Given the description of an element on the screen output the (x, y) to click on. 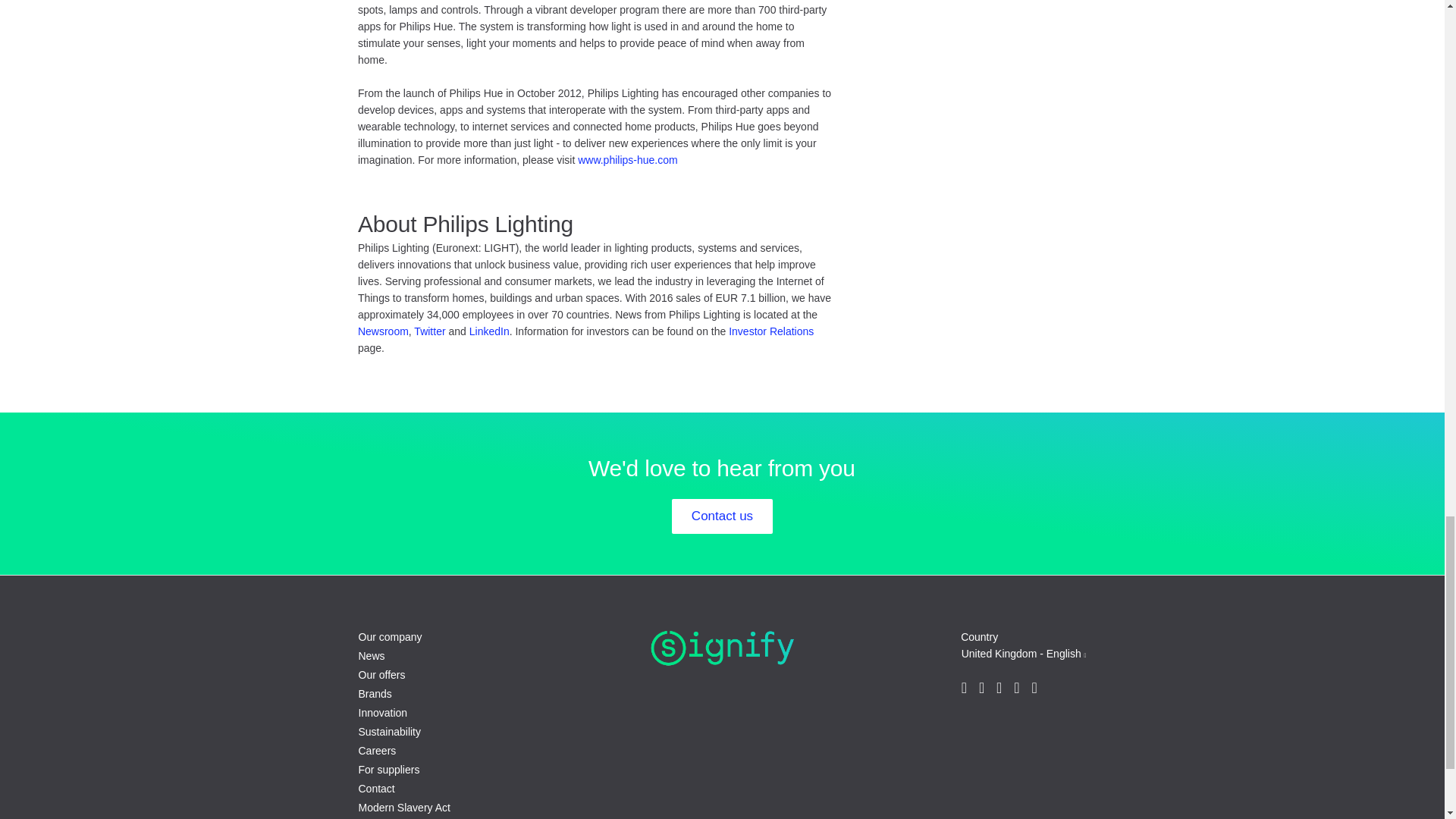
Contact us (722, 515)
Investor Relations (771, 331)
LinkedIn (488, 331)
Newsroom (383, 331)
Twitter (429, 331)
www.philips-hue.com (628, 159)
Contact us (722, 515)
